Given the description of an element on the screen output the (x, y) to click on. 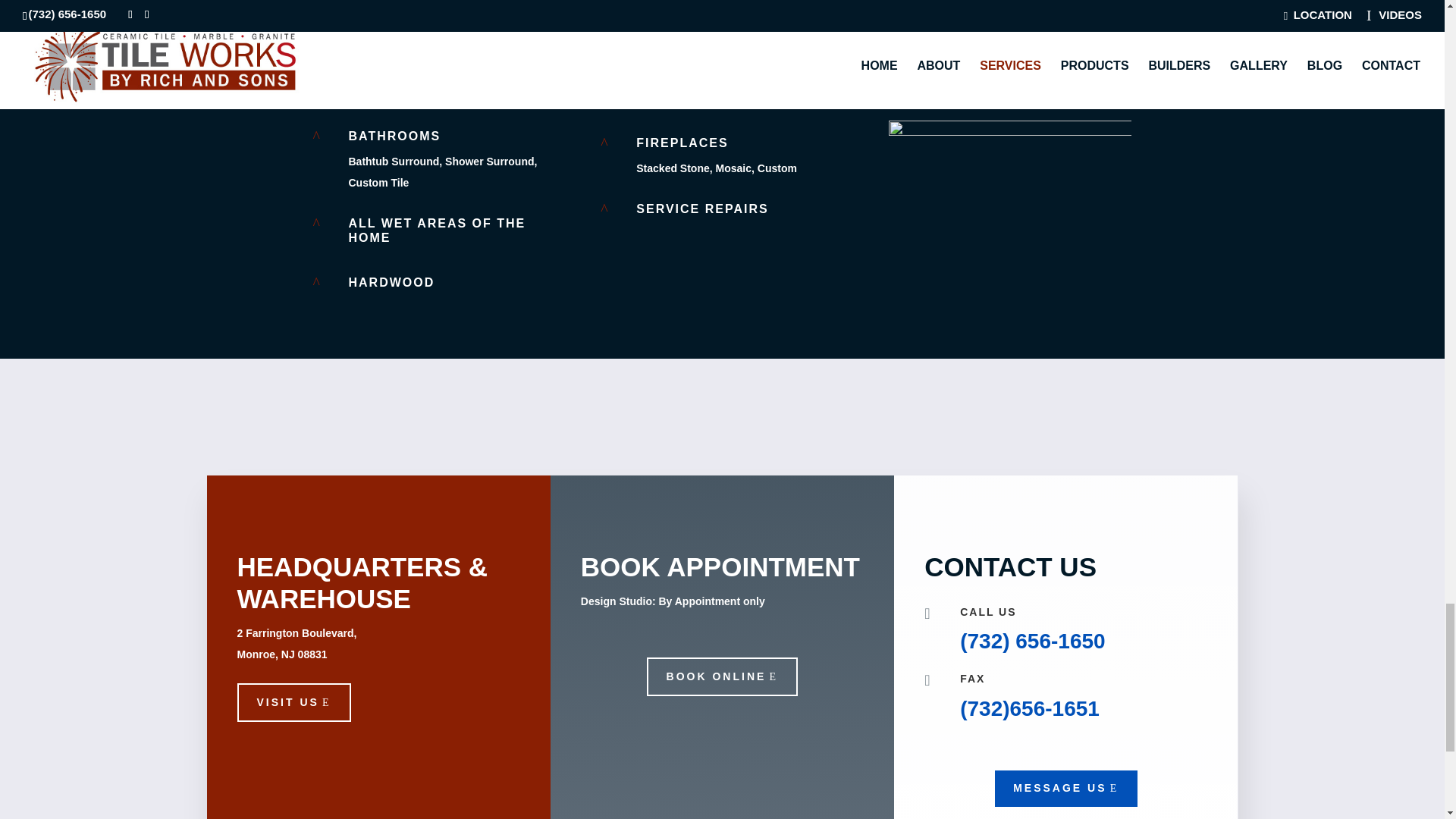
MESSAGE US (1065, 788)
VISIT US (292, 702)
tileworks 10-23 website friendly -81 (1009, 48)
BOOK ONLINE (721, 676)
tileworks 10-23 website friendly -36 (1009, 201)
